Given the description of an element on the screen output the (x, y) to click on. 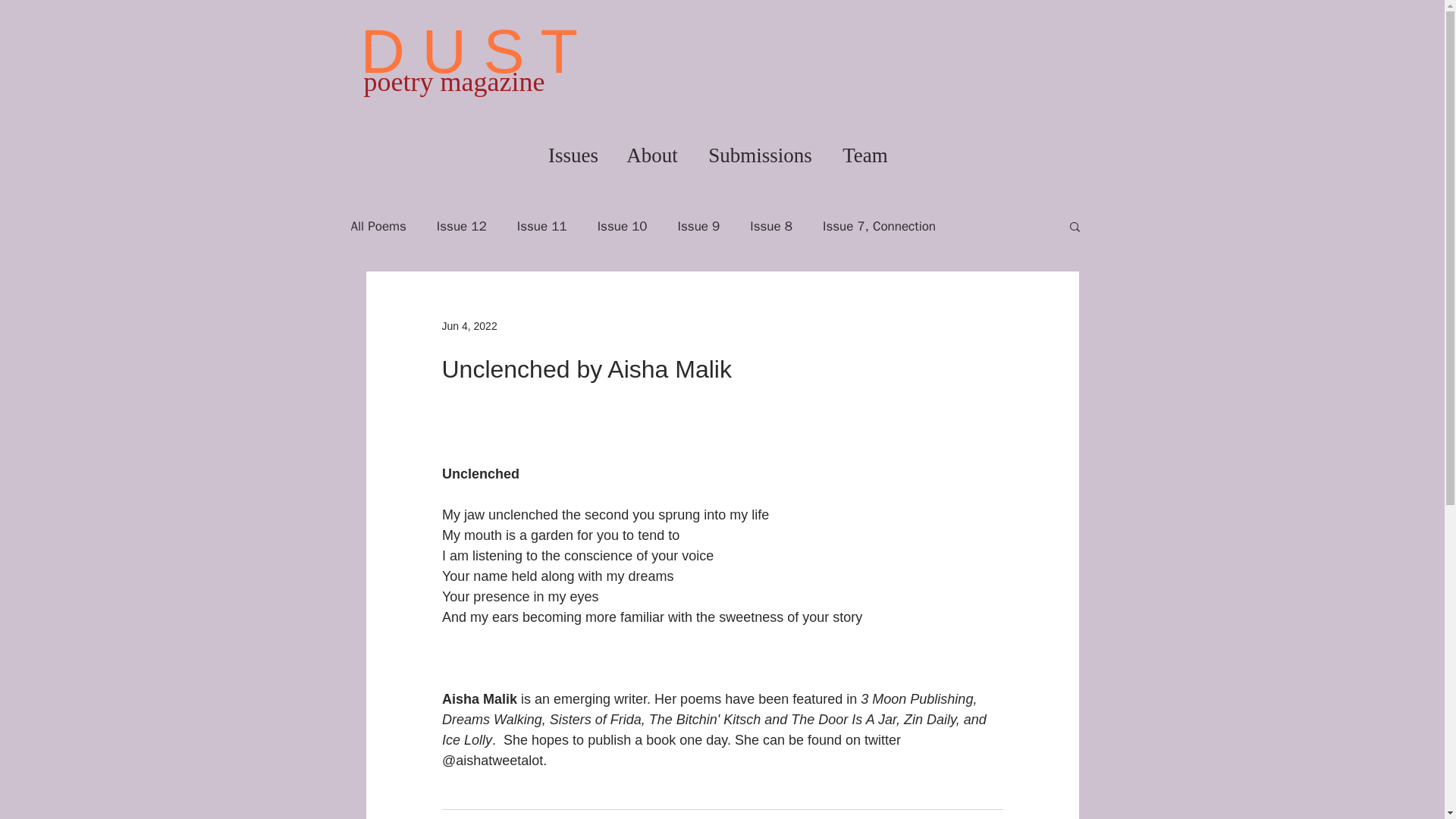
Issue 12 (461, 225)
Issues (572, 155)
Jun 4, 2022 (468, 326)
Submissions (760, 155)
Issue 11 (541, 225)
About (652, 155)
Issue 8 (770, 225)
Issue 7, Connection (879, 225)
All Poems (378, 225)
Team (865, 155)
